Given the description of an element on the screen output the (x, y) to click on. 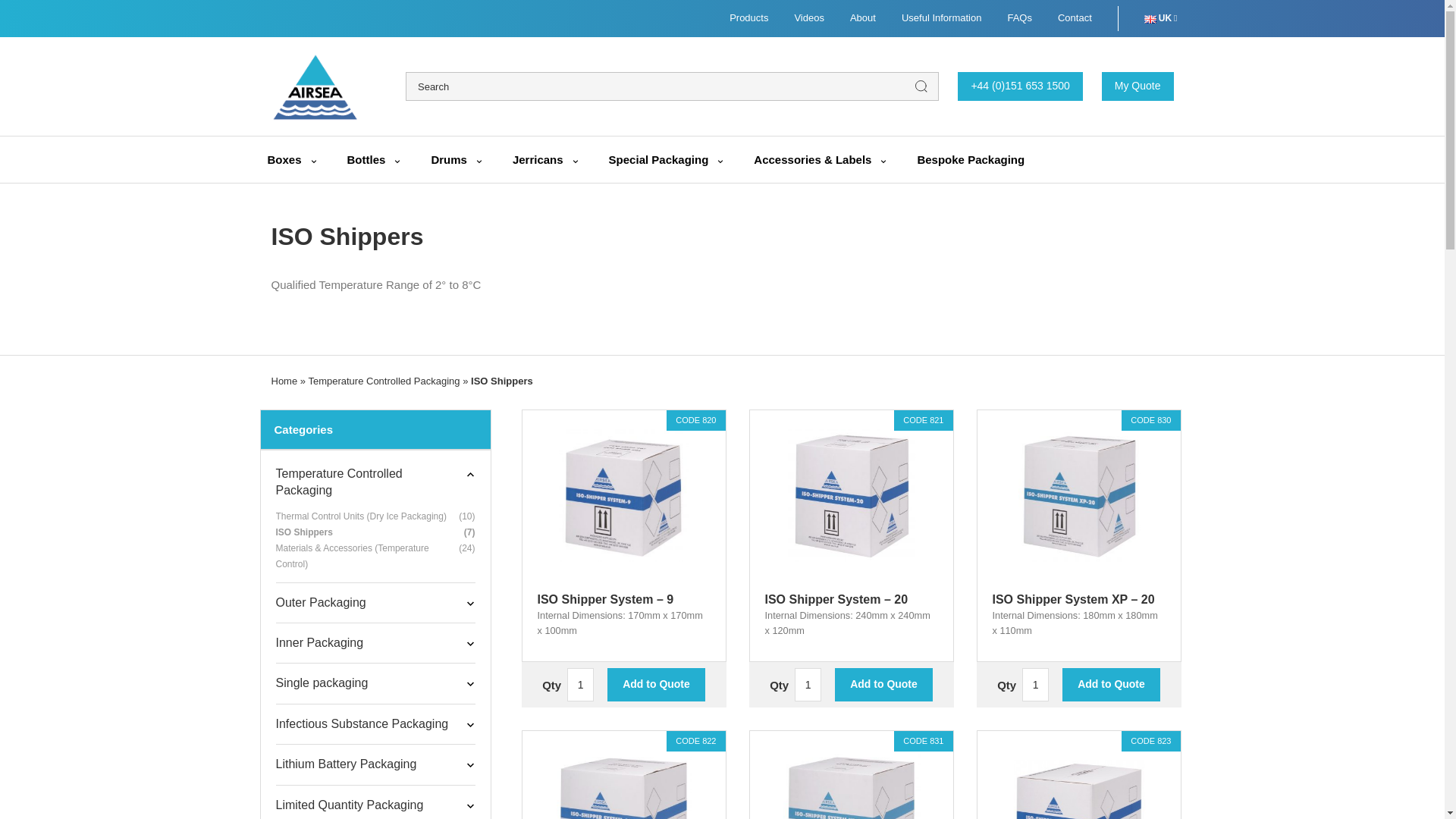
Drums (458, 159)
About (863, 17)
My Quote (1137, 86)
Products (748, 17)
UK (1160, 18)
Useful Information (941, 17)
Contact (1075, 17)
Boxes (293, 159)
Videos (808, 17)
Bottles (375, 159)
